Given the description of an element on the screen output the (x, y) to click on. 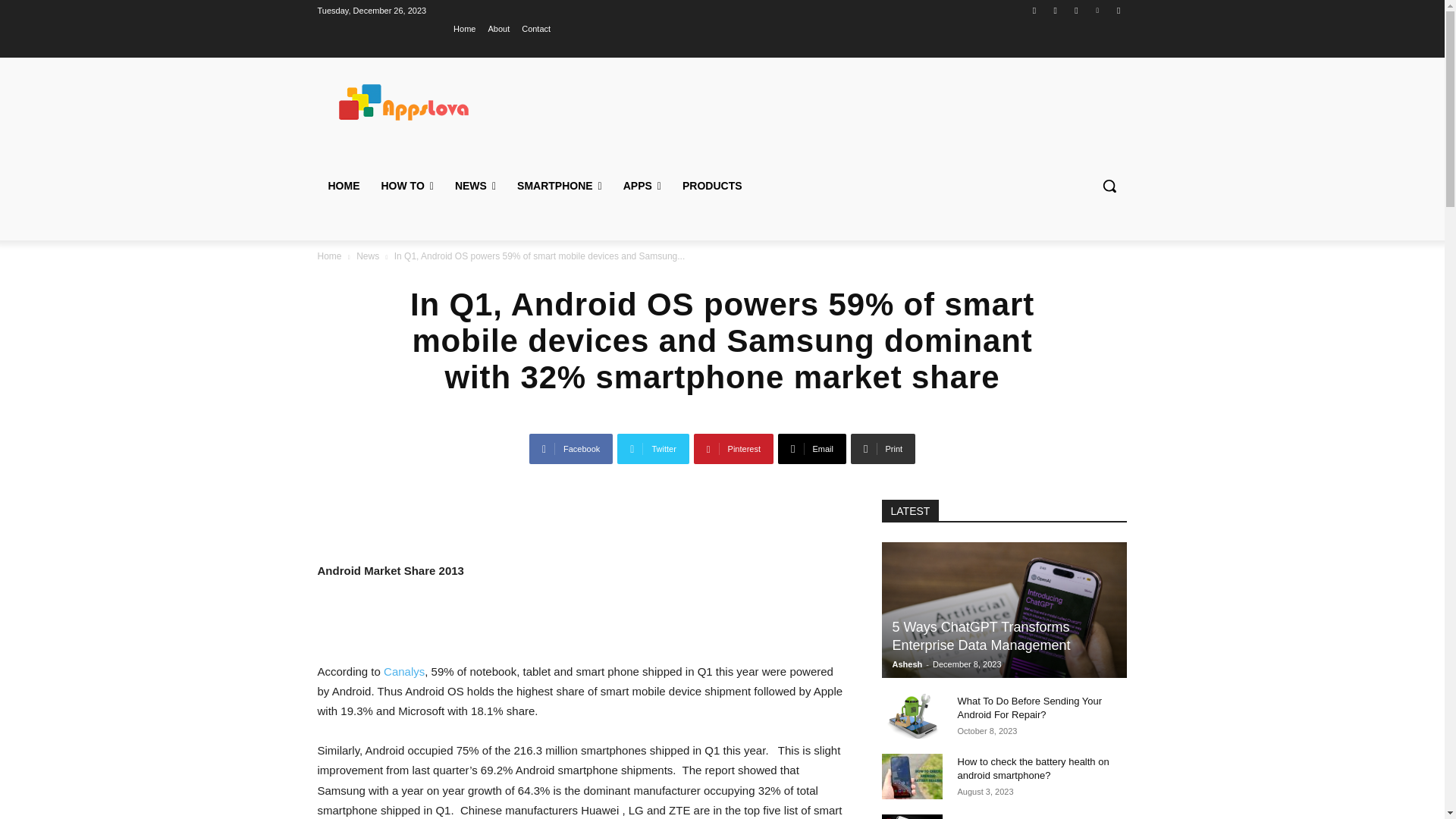
Youtube (1117, 9)
Instagram (1055, 9)
HOW TO (406, 185)
Appslova logo (425, 101)
Home (464, 28)
Appslova logo (425, 101)
Vimeo (1097, 9)
HOME (343, 185)
Contact (535, 28)
How to tips and tricks for smartphones (406, 185)
Facebook (1034, 9)
About (498, 28)
Twitter (1075, 9)
